Given the description of an element on the screen output the (x, y) to click on. 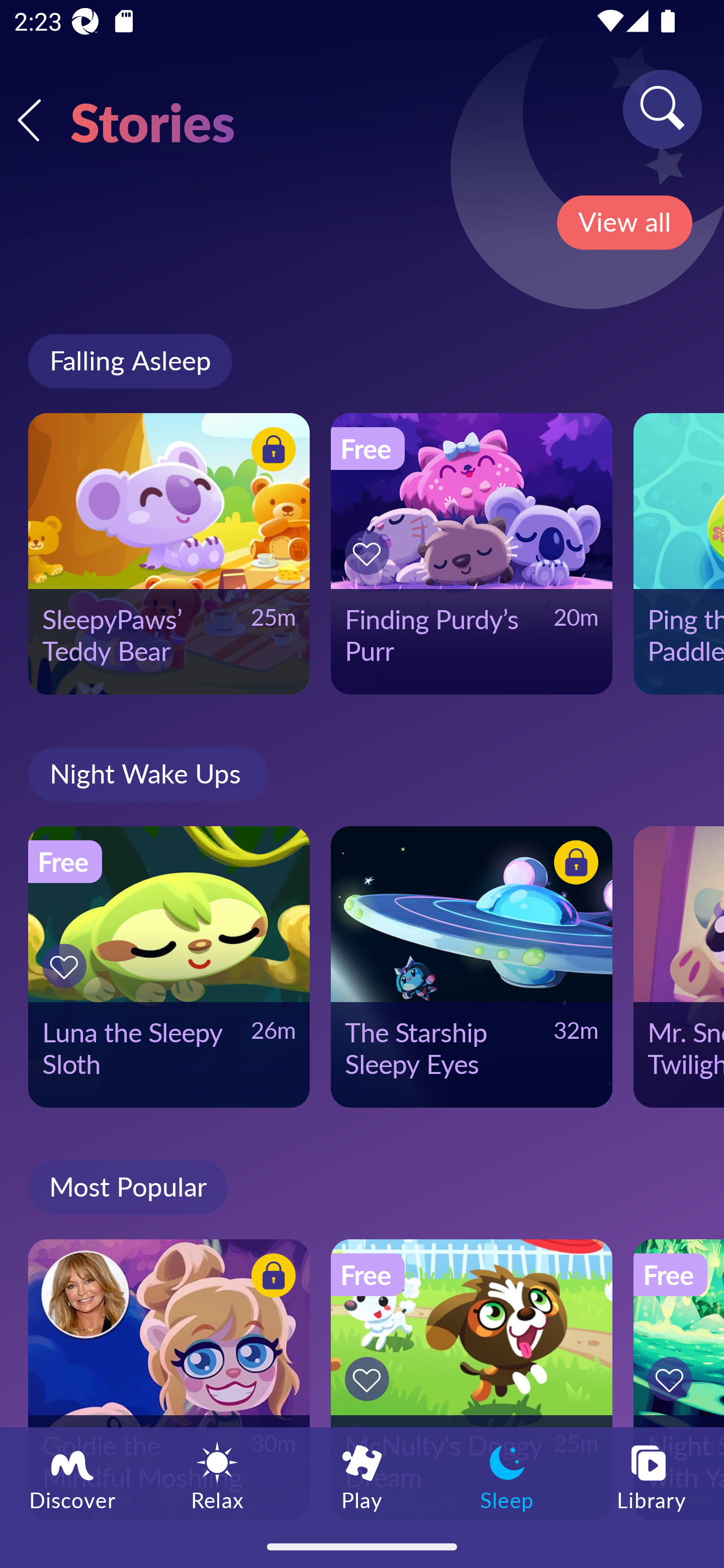
View all (624, 222)
Button (269, 451)
Button (369, 552)
Button (573, 865)
Button (67, 965)
Button (269, 1277)
Button (369, 1378)
Button (672, 1378)
Discover (72, 1475)
Relax (216, 1475)
Play (361, 1475)
Library (651, 1475)
